Given the description of an element on the screen output the (x, y) to click on. 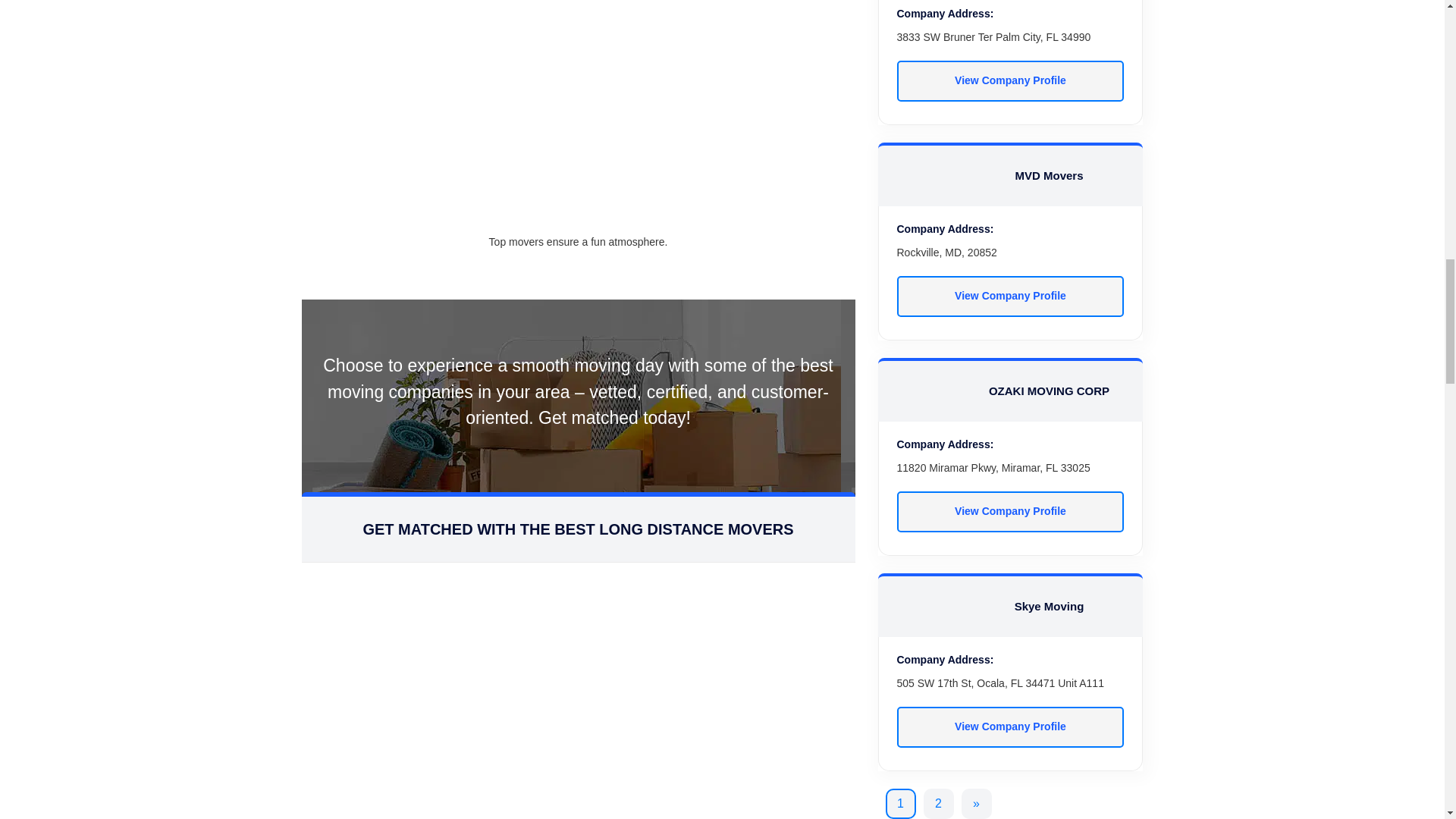
View Company Profile (1010, 726)
View Company Profile (1010, 511)
View Company Profile (1010, 296)
View Company Profile (1010, 80)
Get Estimate (577, 800)
2 (938, 803)
